Given the description of an element on the screen output the (x, y) to click on. 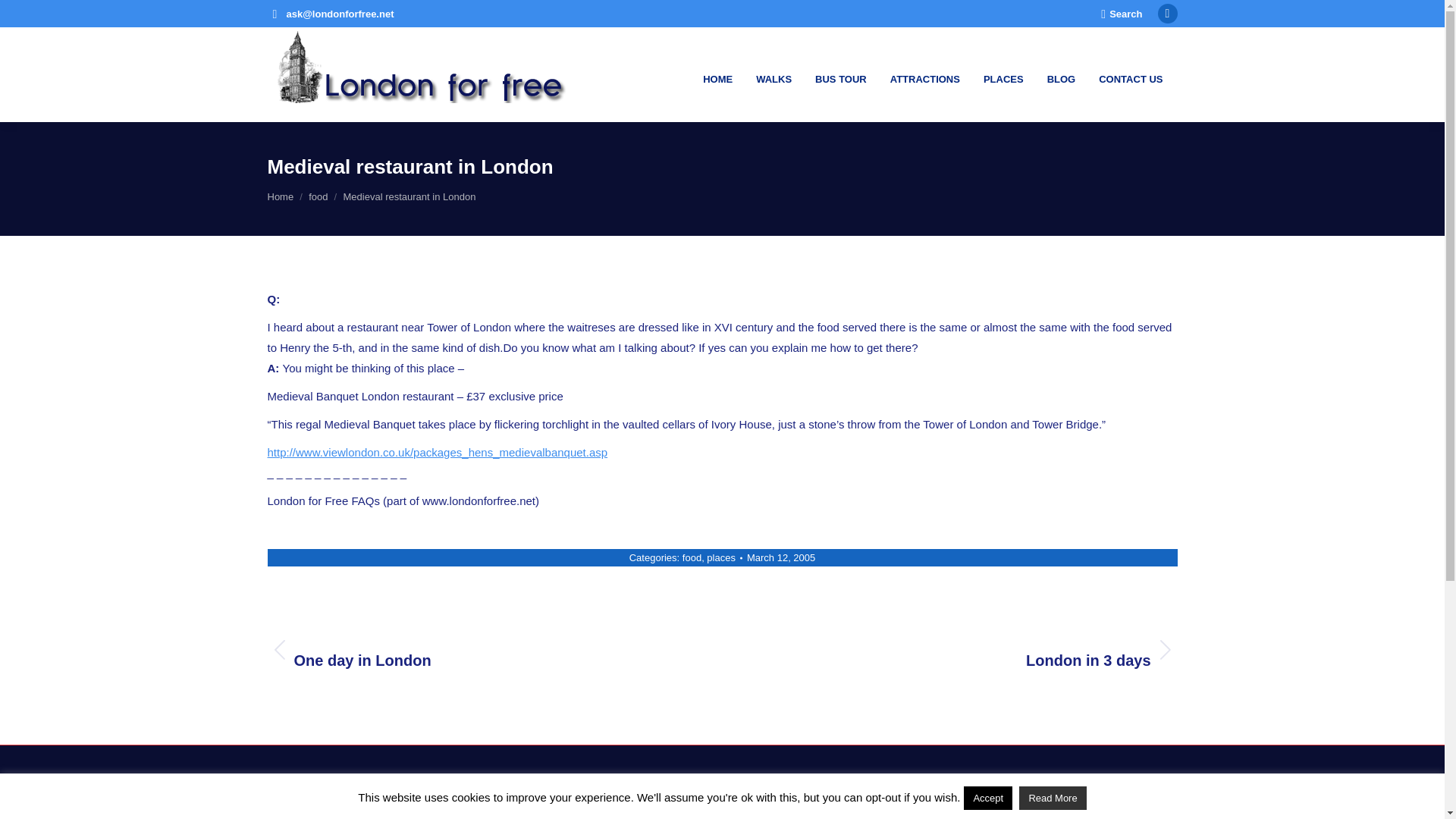
bus icons (344, 816)
HOME (716, 74)
Search (1120, 12)
Facebook page opens in new window (1167, 13)
food (317, 196)
places (720, 557)
food (317, 196)
Home (280, 196)
BLOG (960, 649)
CONTACT US (1060, 74)
BUS TOUR (1129, 74)
Home (839, 74)
food (280, 196)
PLACES (691, 557)
